Given the description of an element on the screen output the (x, y) to click on. 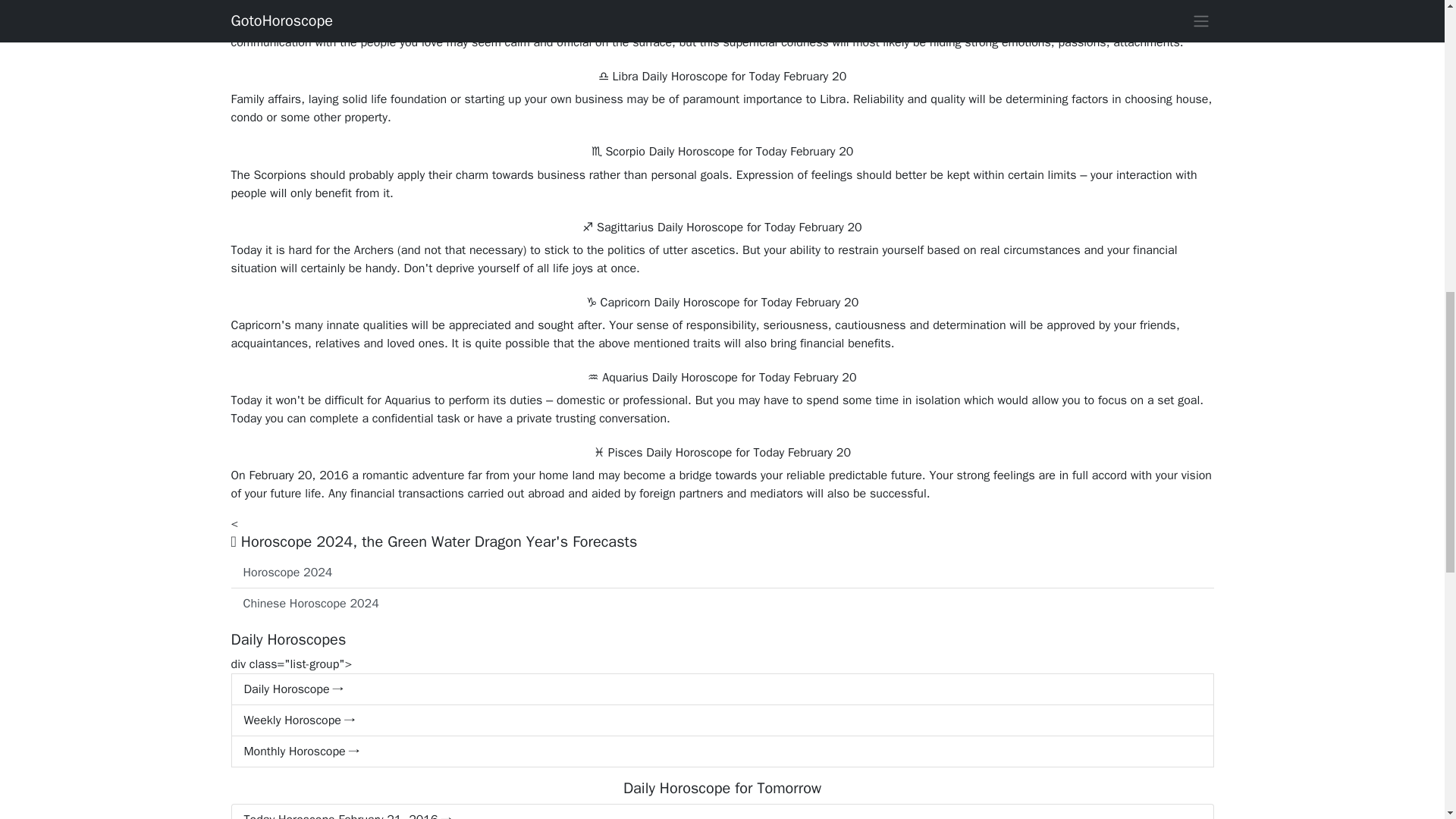
Today Horoscope February 21, 2016 (721, 811)
Weekly Horoscope (721, 720)
Daily Horoscope (721, 689)
Chinese Horoscope 2024 (721, 603)
Horoscope 2024 (721, 572)
Monthly Horoscope (721, 751)
